Given the description of an element on the screen output the (x, y) to click on. 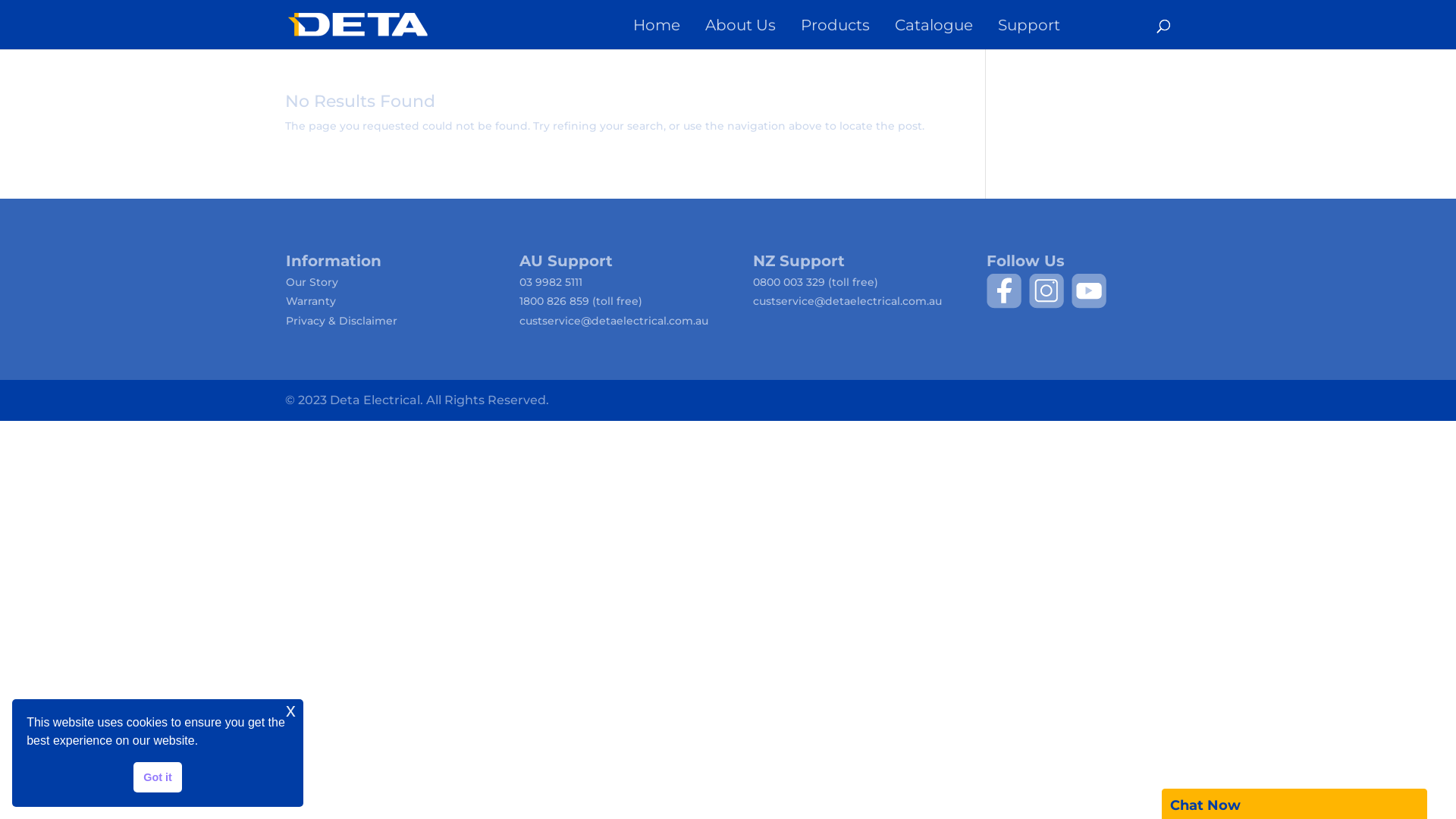
1800 826 859 (toll free) Element type: text (580, 300)
Privacy & Disclaimer Element type: text (341, 320)
Our Story Element type: text (311, 281)
Warranty Element type: text (310, 300)
Products Element type: text (846, 30)
custservice@detaelectrical.com.au Element type: text (847, 300)
Support Element type: text (1049, 30)
custservice@detaelectrical.com.au Element type: text (613, 320)
About Us Element type: text (751, 30)
Catalogue Element type: text (944, 30)
Got it Element type: text (157, 777)
03 9982 5111 Element type: text (550, 281)
Home Element type: text (667, 30)
0800 003 329 (toll free) Element type: text (815, 281)
